Given the description of an element on the screen output the (x, y) to click on. 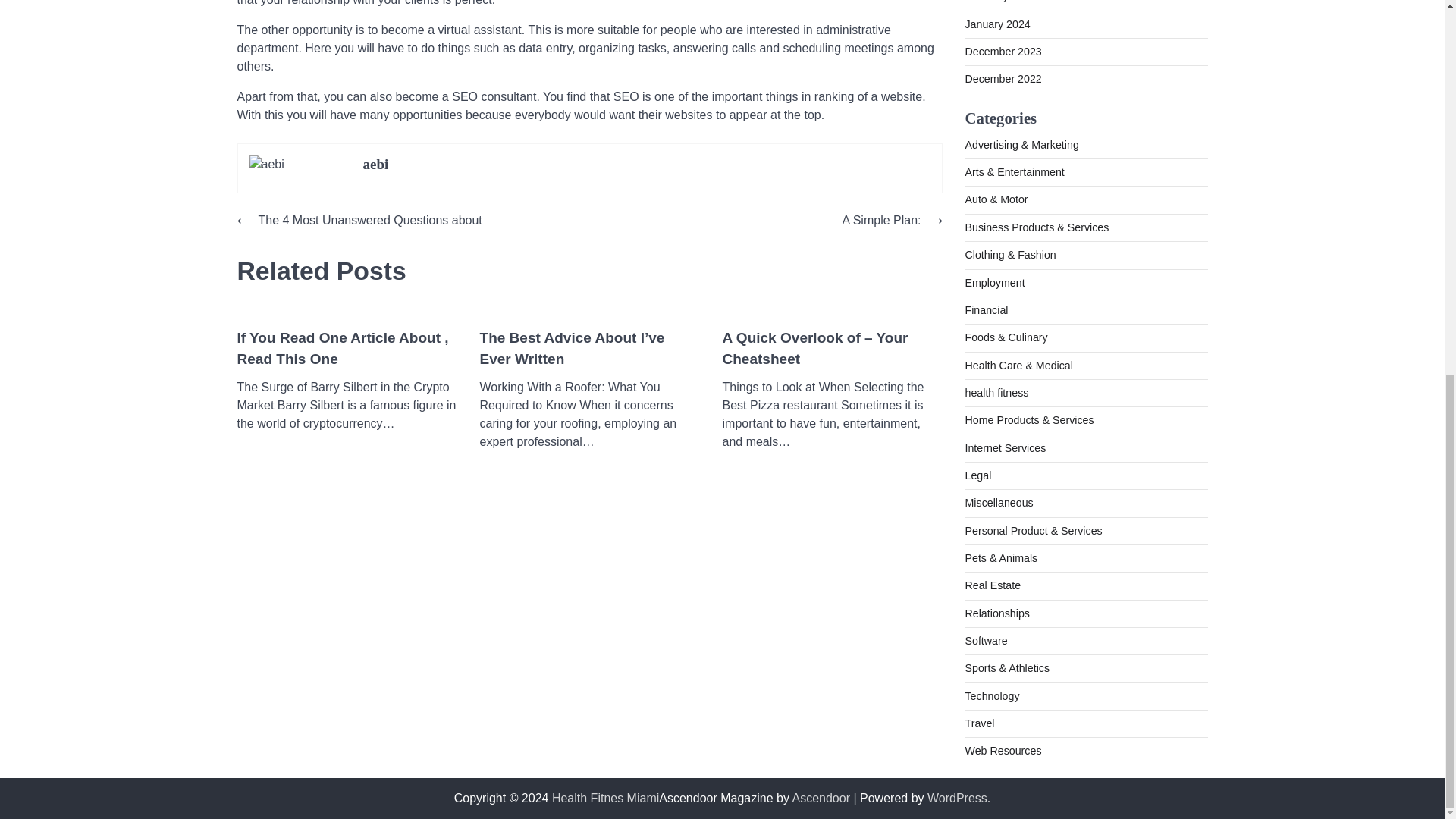
January 2024 (996, 24)
December 2022 (1002, 78)
Financial (985, 309)
Employment (994, 282)
December 2023 (1002, 51)
February 2024 (999, 1)
If You Read One Article About , Read This One (346, 349)
